Given the description of an element on the screen output the (x, y) to click on. 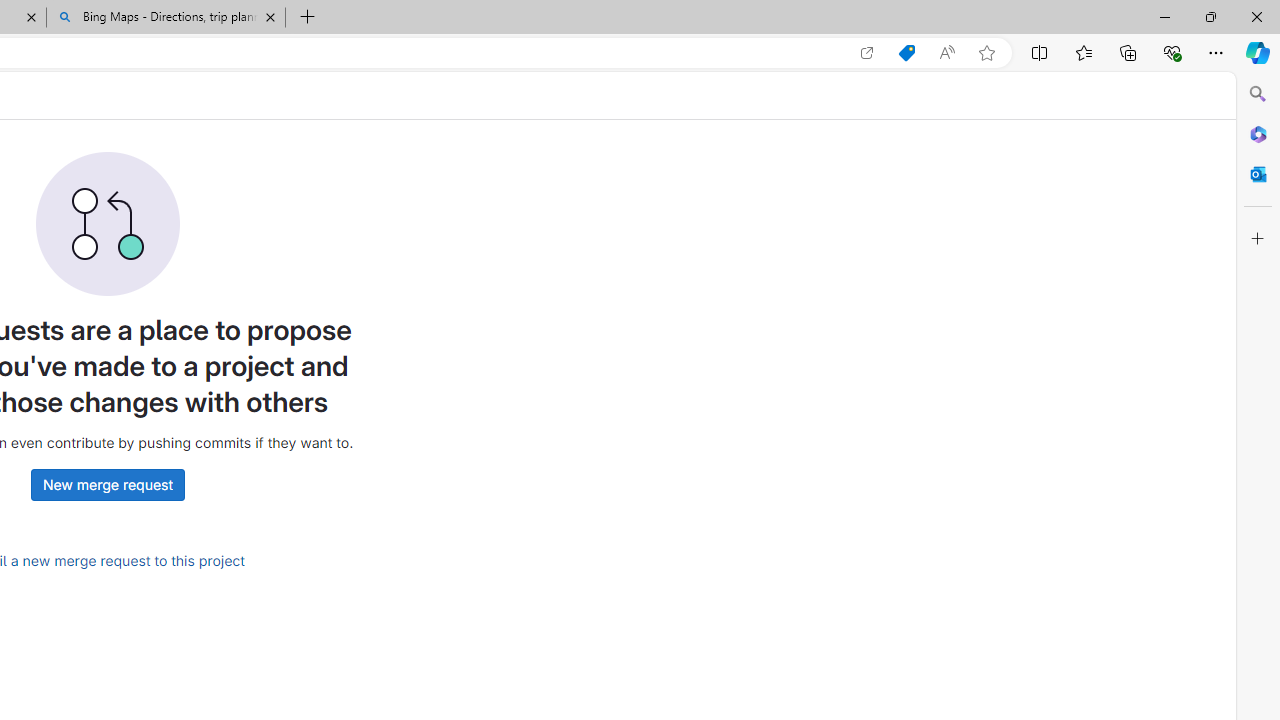
Open in app (867, 53)
New merge request (107, 484)
Outlook (1258, 174)
